Given the description of an element on the screen output the (x, y) to click on. 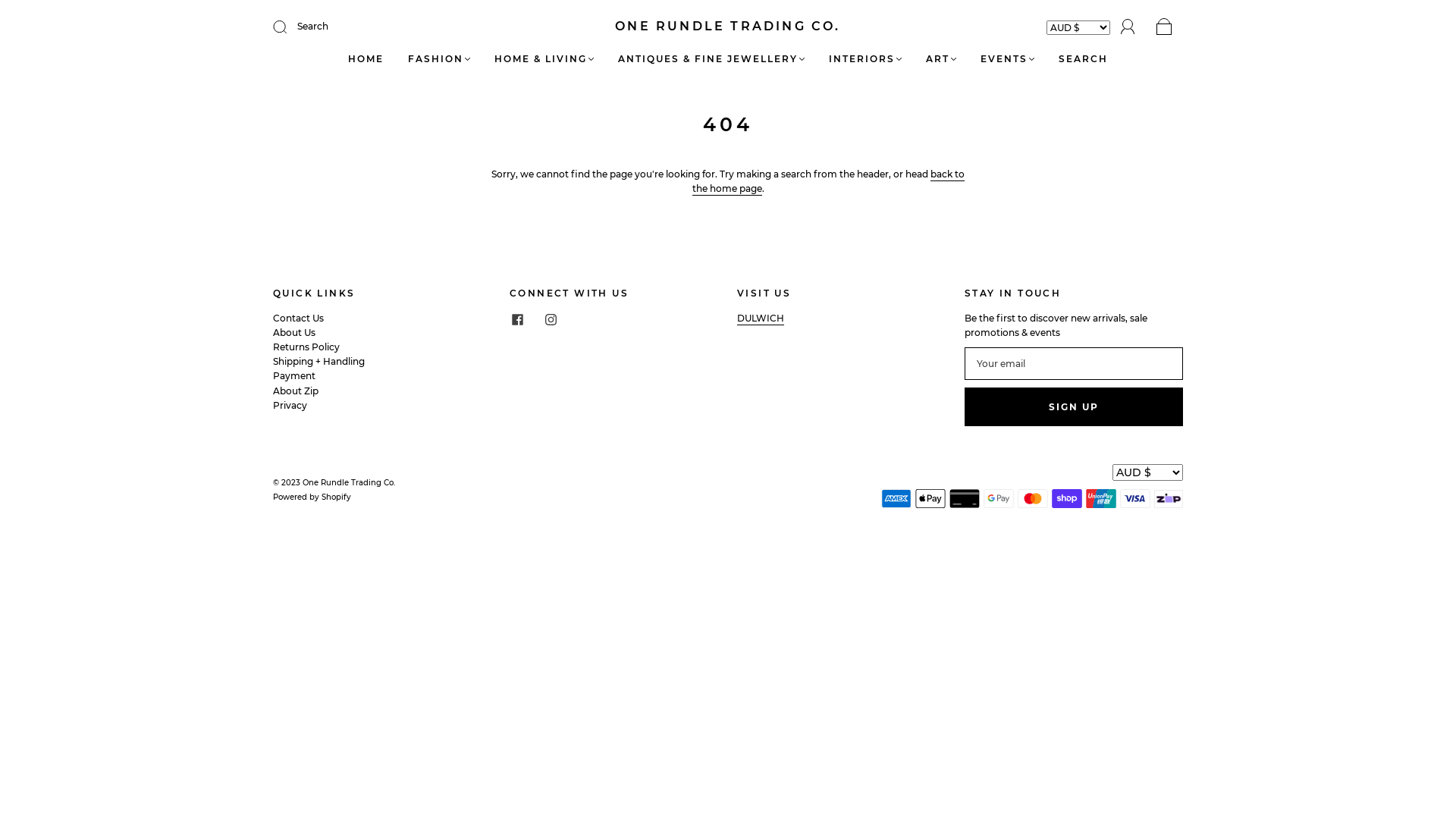
Payment Element type: text (294, 375)
FASHION Element type: text (438, 58)
ANTIQUES & FINE JEWELLERY Element type: text (711, 58)
HOME & LIVING Element type: text (543, 58)
INTERIORS Element type: text (864, 58)
Privacy Element type: text (290, 405)
DULWICH Element type: text (760, 318)
Powered by Shopify Element type: text (312, 497)
EVENTS Element type: text (1007, 58)
About Zip Element type: text (295, 390)
Contact Us Element type: text (298, 317)
HOME Element type: text (365, 58)
back to the home page Element type: text (827, 181)
ART Element type: text (940, 58)
ONE RUNDLE TRADING CO. Element type: text (727, 26)
About Us Element type: text (294, 332)
SIGN UP Element type: text (1073, 406)
Shipping + Handling Element type: text (318, 361)
One Rundle Trading Co. Element type: text (348, 482)
Returns Policy Element type: text (306, 346)
SEARCH Element type: text (1082, 58)
